Given the description of an element on the screen output the (x, y) to click on. 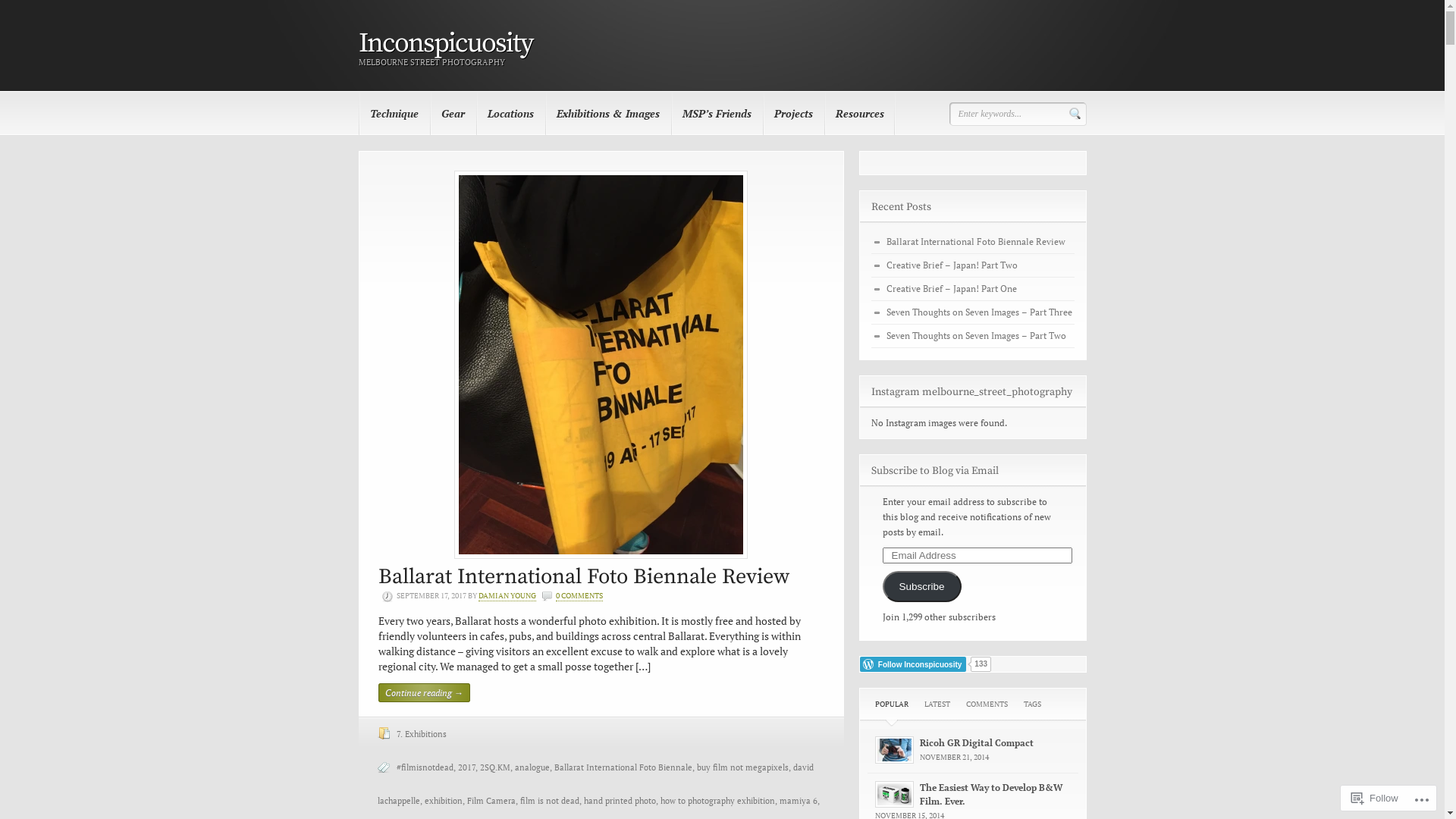
LATEST Element type: text (936, 708)
#filmisnotdead Element type: text (423, 767)
how to photography exhibition Element type: text (716, 800)
Projects Element type: text (793, 113)
exhibition Element type: text (443, 800)
Film Camera Element type: text (491, 800)
2SQ.KM Element type: text (494, 767)
film is not dead Element type: text (549, 800)
COMMENTS Element type: text (986, 708)
POPULAR Element type: text (891, 708)
Follow Button Element type: hover (972, 663)
mamiya 6 Element type: text (798, 800)
Technique Element type: text (393, 113)
Ballarat International Foto Biennale Review Element type: text (582, 576)
Ballarat International Foto Biennale Element type: text (622, 767)
TAGS Element type: text (1032, 708)
7. Exhibitions Element type: text (420, 733)
DAMIAN YOUNG Element type: text (506, 595)
Gear Element type: text (452, 113)
hand printed photo Element type: text (619, 800)
0 COMMENTS Element type: text (578, 595)
david lachappelle Element type: text (595, 784)
Locations Element type: text (510, 113)
Ballarat International Foto Biennale Review Element type: text (974, 241)
Inconspicuosity Element type: text (444, 43)
Ricoh GR Digital Compact Element type: text (975, 742)
Subscribe Element type: text (921, 586)
buy film not megapixels Element type: text (741, 767)
analogue Element type: text (531, 767)
Resources Element type: text (858, 113)
2017 Element type: text (466, 767)
The Easiest Way to Develop B&W Film. Ever. Element type: text (990, 793)
Follow Element type: text (1374, 797)
Exhibitions & Images Element type: text (607, 113)
